Given the description of an element on the screen output the (x, y) to click on. 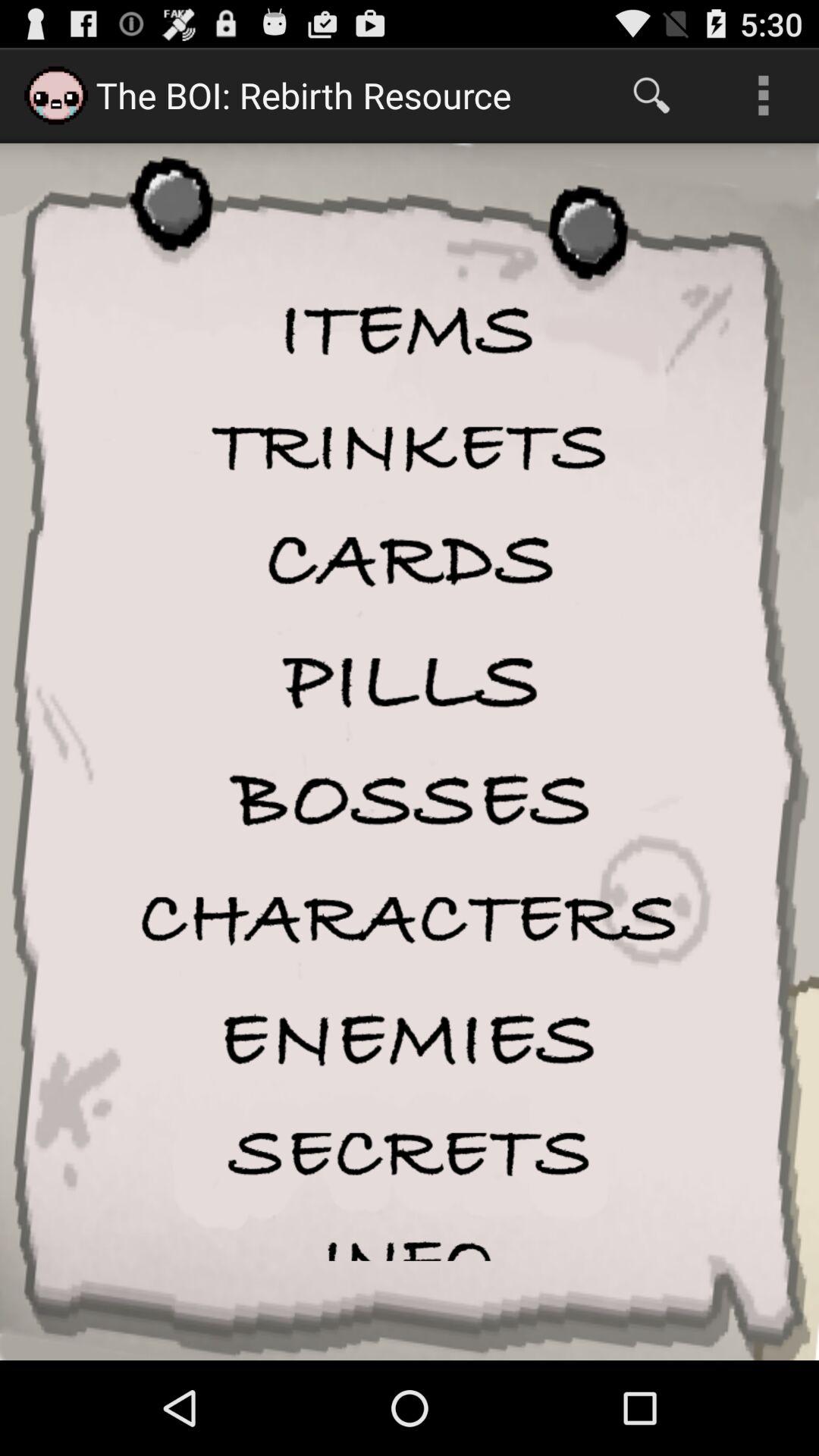
select this item (409, 800)
